Given the description of an element on the screen output the (x, y) to click on. 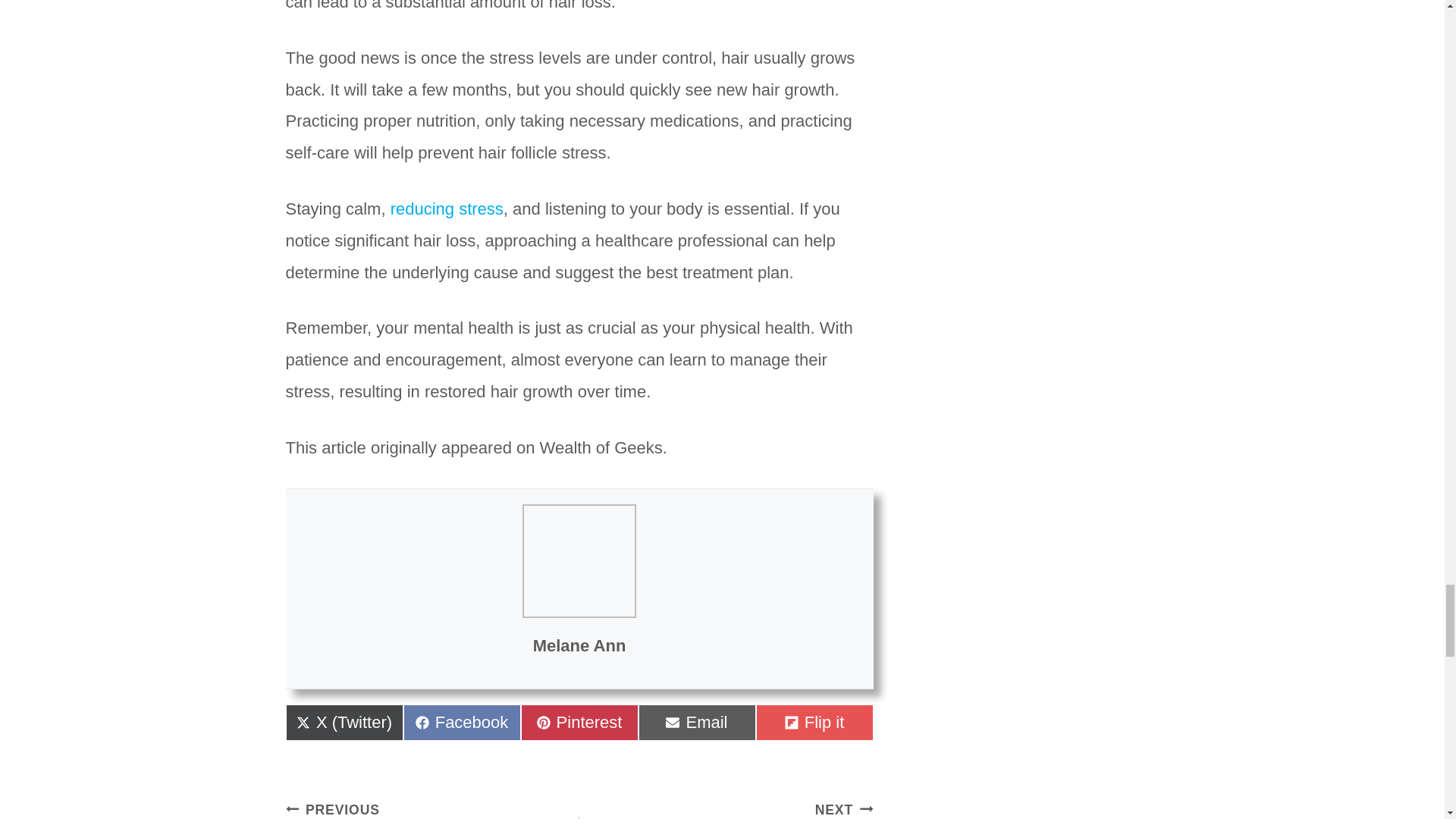
reducing stress (697, 722)
